Given the description of an element on the screen output the (x, y) to click on. 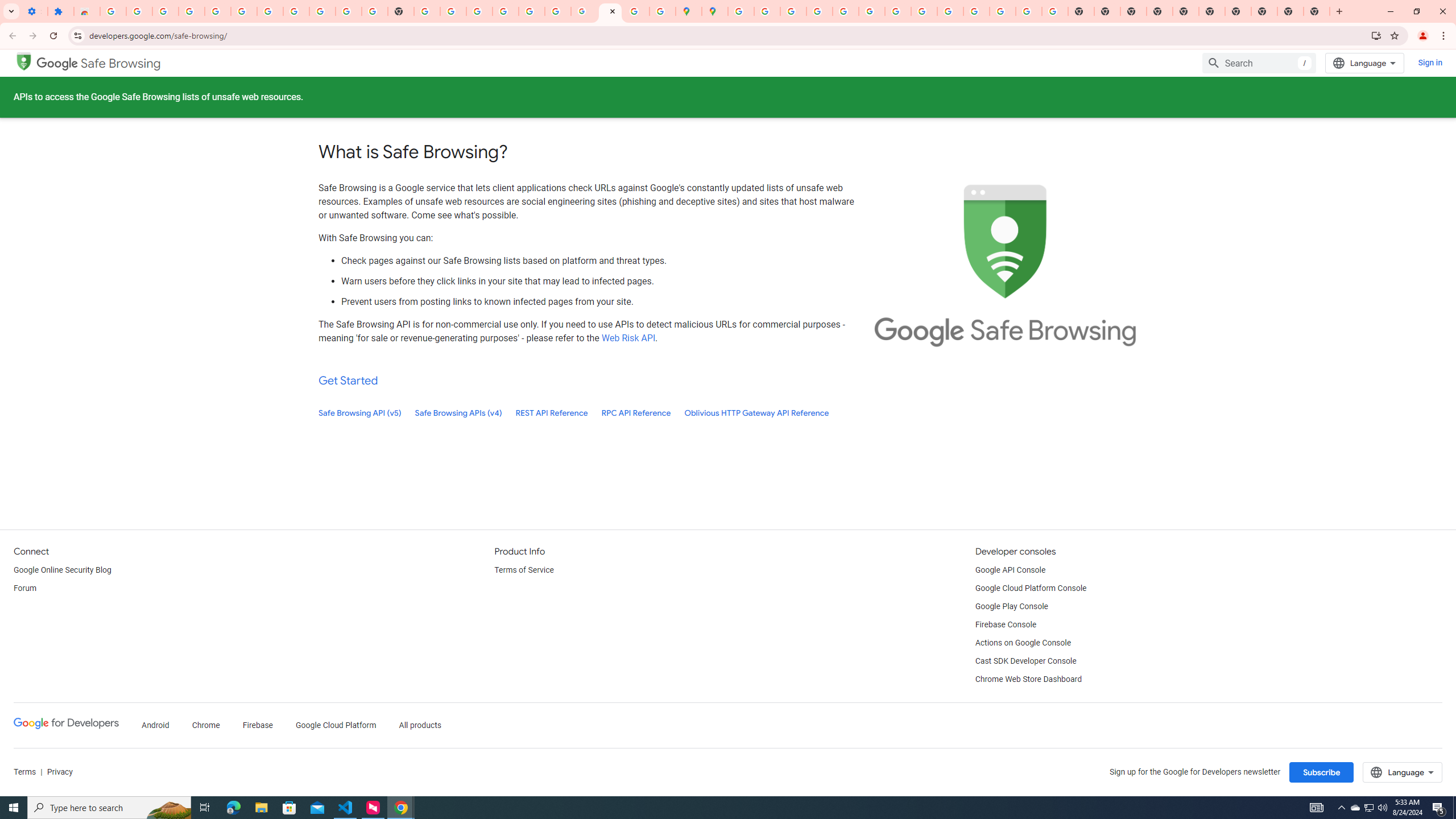
Privacy Help Center - Policies Help (818, 11)
Install Google Developers (1376, 35)
Google Developers (66, 723)
Google Online Security Blog (62, 570)
https://scholar.google.com/ (427, 11)
Forum (24, 588)
Firebase Console (1005, 624)
Settings - On startup (34, 11)
New Tab (1316, 11)
Google Safe Browsing (98, 63)
Cast SDK Developer Console (1025, 661)
Google Cloud Platform (336, 725)
